Given the description of an element on the screen output the (x, y) to click on. 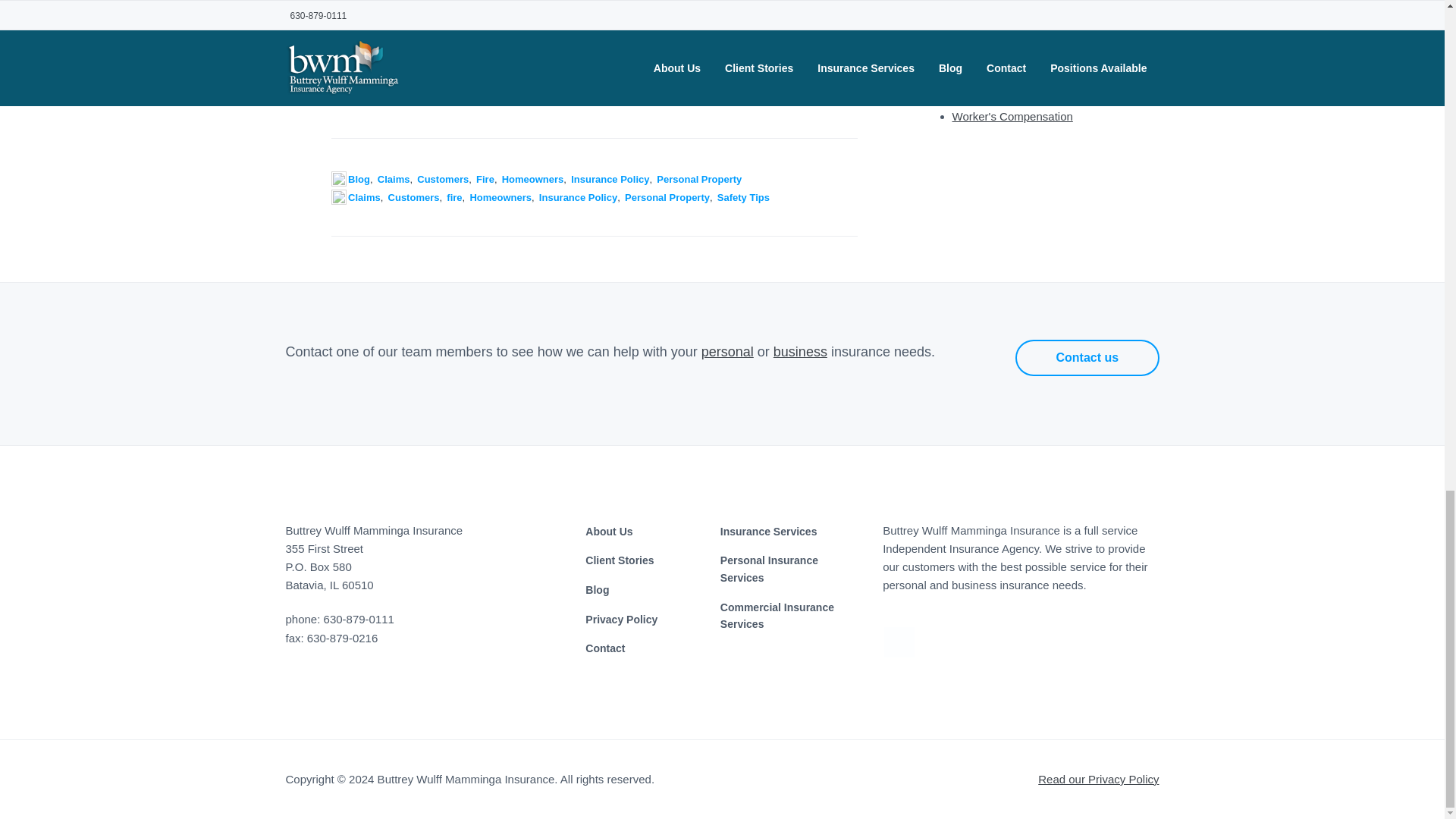
fire (453, 197)
Insurance Policy (577, 197)
Homeowners (533, 179)
Personal Property (698, 179)
Personal Property (667, 197)
Customers (413, 197)
experienced independent insurance agents (590, 85)
Fire (485, 179)
Claims (363, 197)
Customers (442, 179)
